Given the description of an element on the screen output the (x, y) to click on. 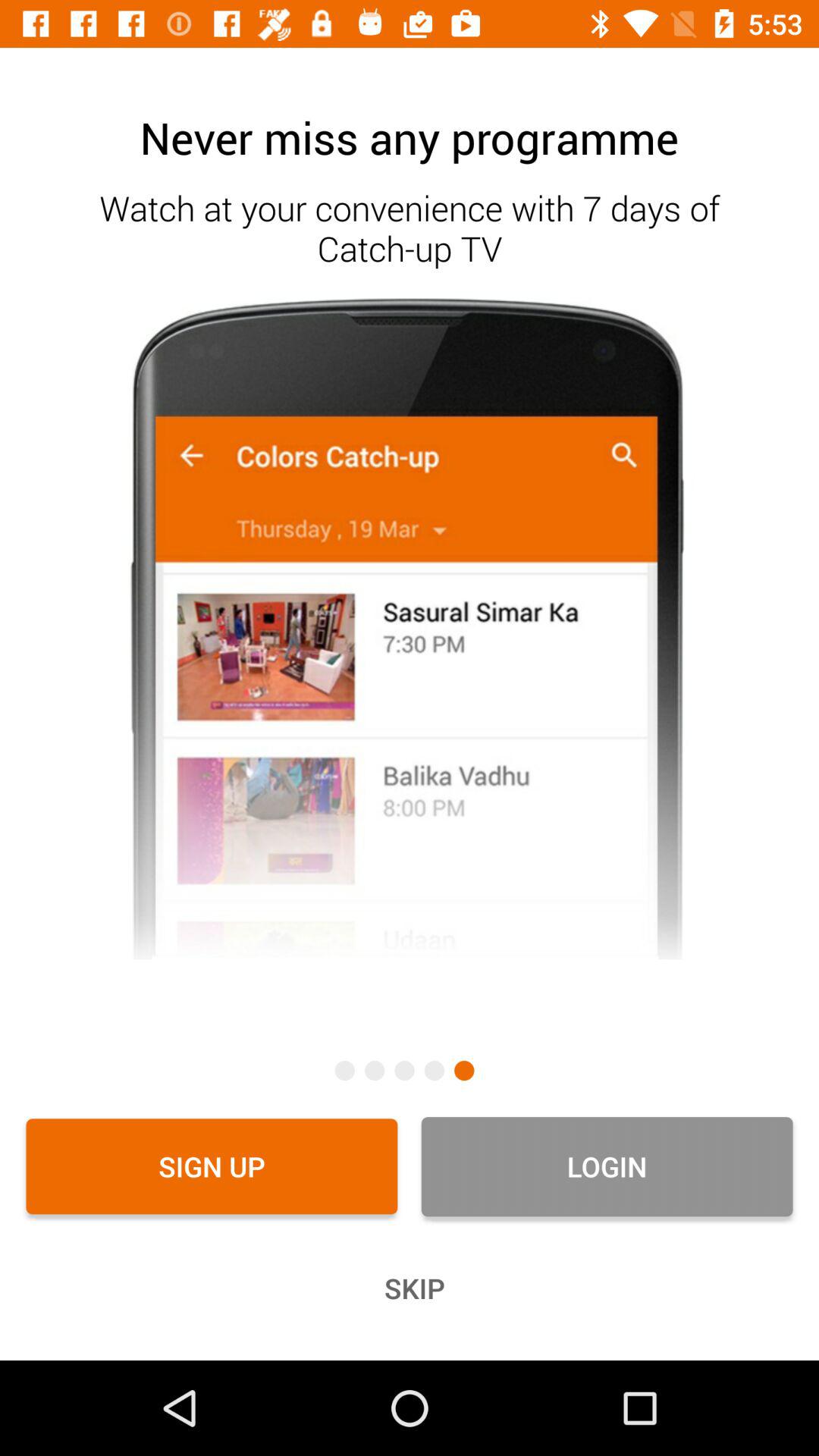
flip until skip item (409, 1288)
